Given the description of an element on the screen output the (x, y) to click on. 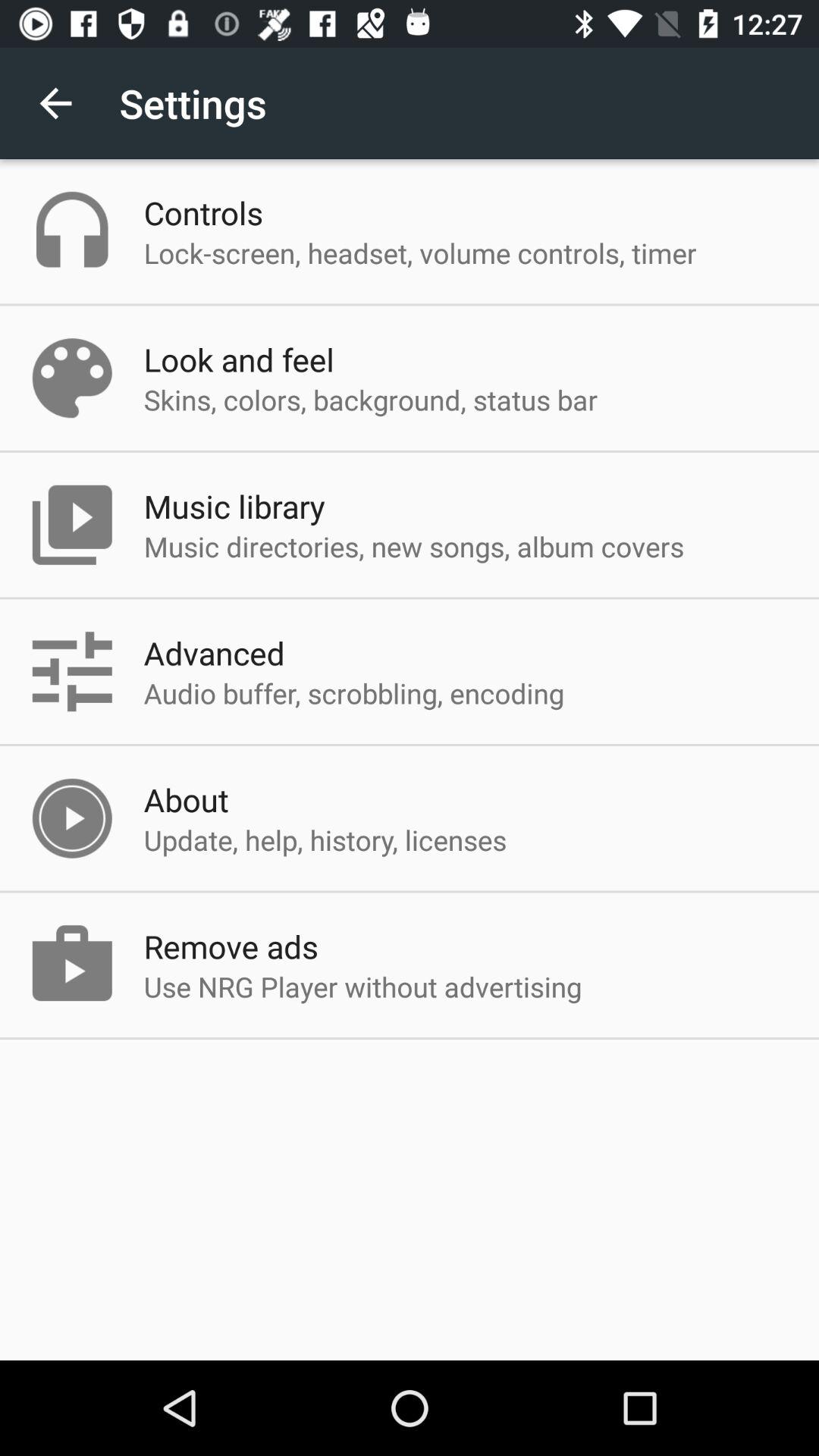
swipe to the audio buffer scrobbling app (353, 693)
